Given the description of an element on the screen output the (x, y) to click on. 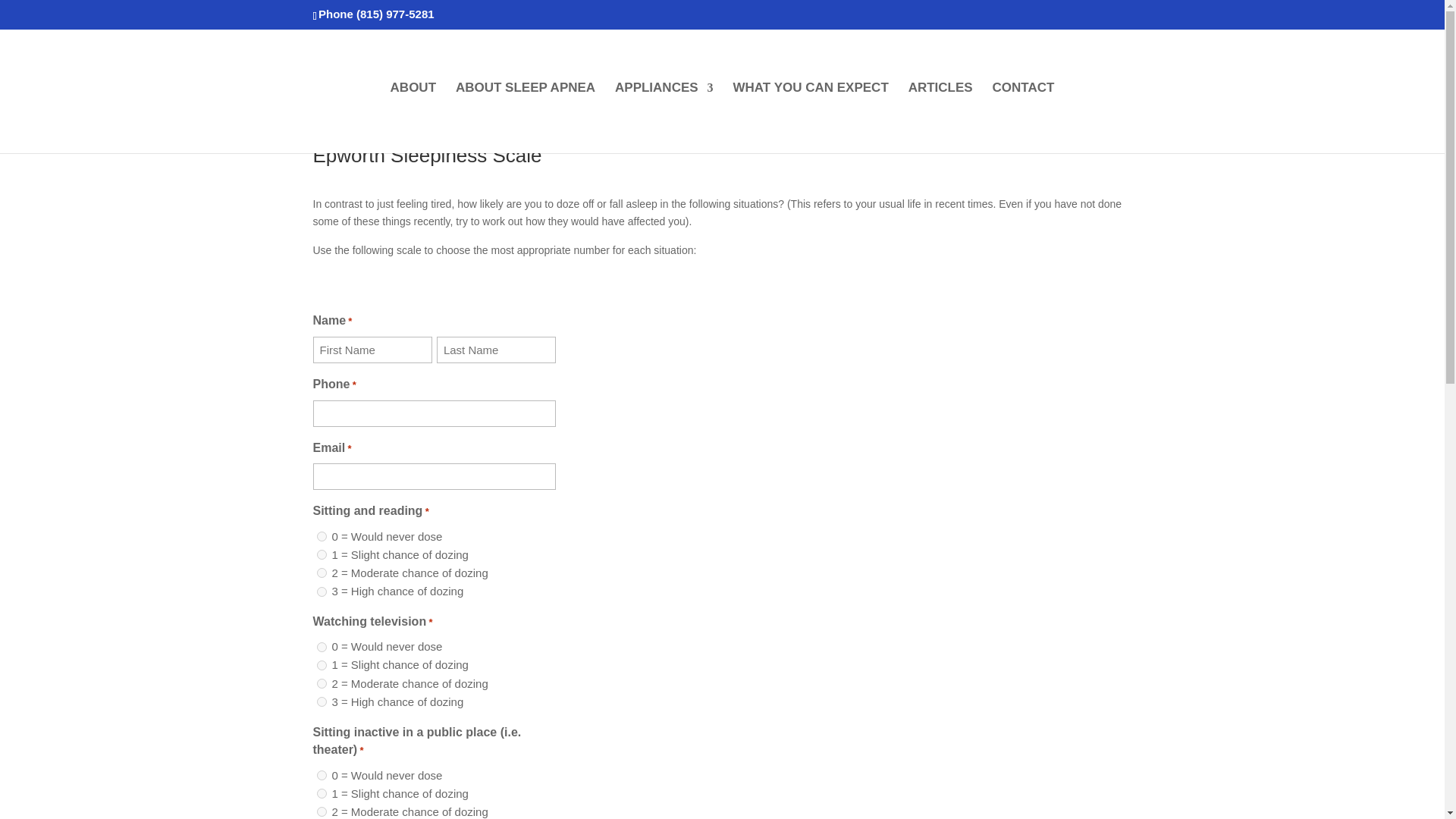
WHAT YOU CAN EXPECT (810, 117)
ABOUT SLEEP APNEA (525, 117)
ARTICLES (940, 117)
APPLIANCES (663, 117)
